Given the description of an element on the screen output the (x, y) to click on. 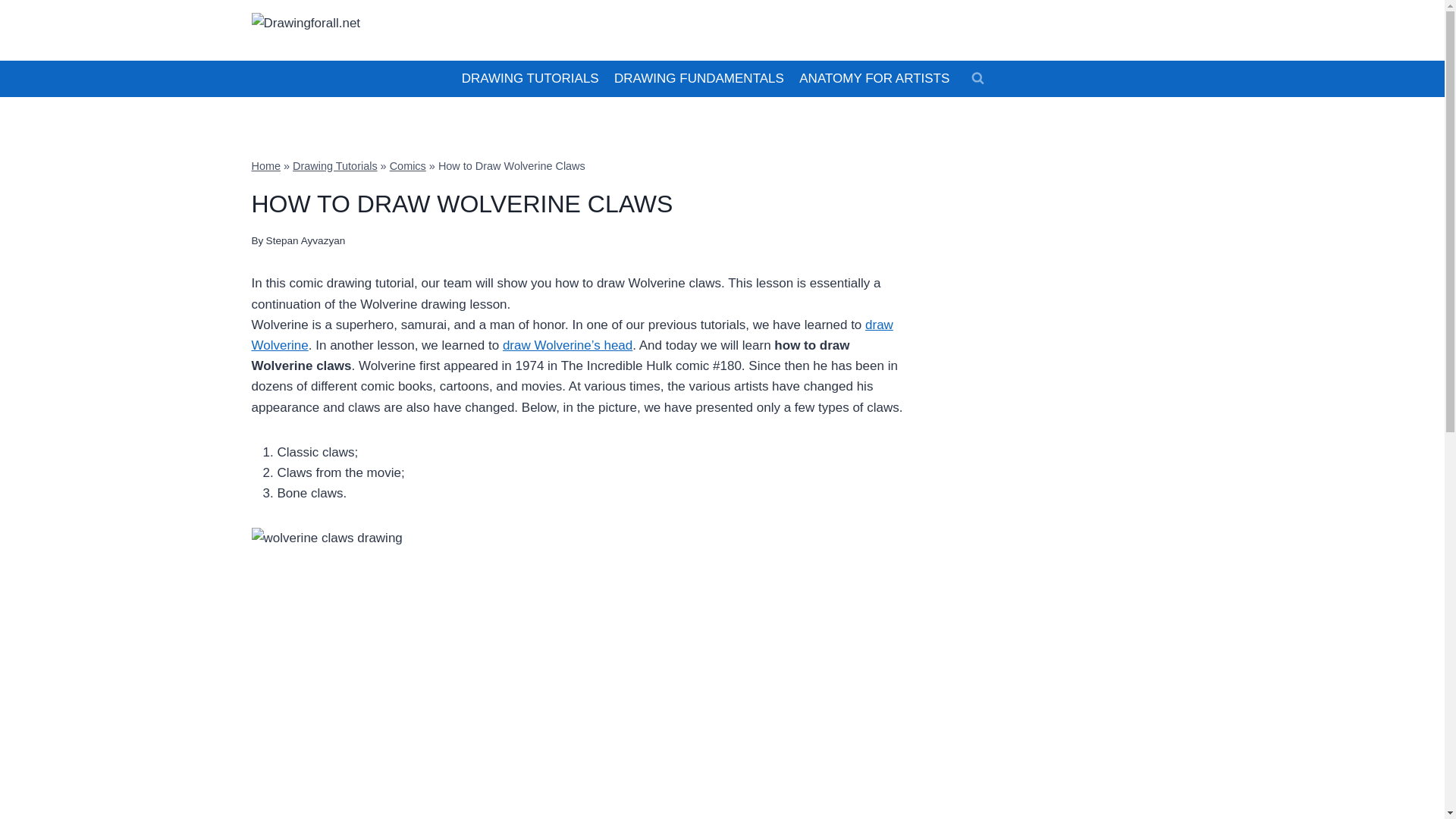
draw Wolverine (572, 334)
Drawing Tutorials (334, 165)
Comics (408, 165)
Home (266, 165)
DRAWING FUNDAMENTALS (699, 78)
ANATOMY FOR ARTISTS (874, 78)
DRAWING TUTORIALS (528, 78)
